Given the description of an element on the screen output the (x, y) to click on. 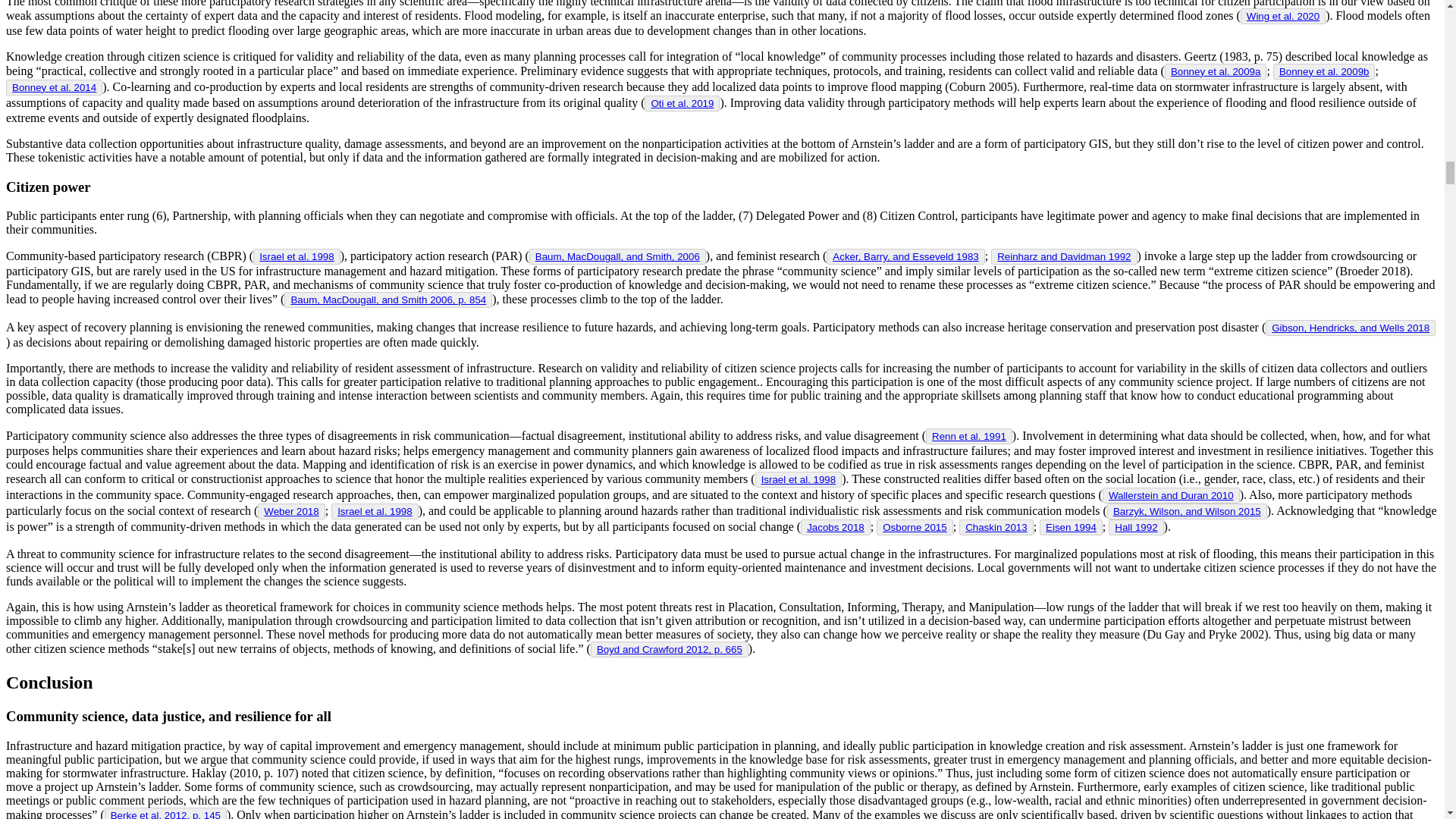
Bonney et al. 2014 (53, 87)
Gibson, Hendricks, and Wells 2018 (1350, 327)
Boyd and Crawford 2012, p. 665 (669, 649)
Wallerstein and Duran 2010 (1170, 495)
Bonney et al. 2009b (1324, 71)
Israel et al. 1998 (374, 511)
Wing et al. 2020 (1282, 16)
Weber 2018 (290, 511)
Israel et al. 1998 (296, 256)
Osborne 2015 (914, 527)
Baum, MacDougall, and Smith, 2006 (617, 256)
Hall 1992 (1136, 527)
Jacobs 2018 (835, 527)
Berke et al. 2012, p. 145 (165, 814)
Chaskin 2013 (996, 527)
